Given the description of an element on the screen output the (x, y) to click on. 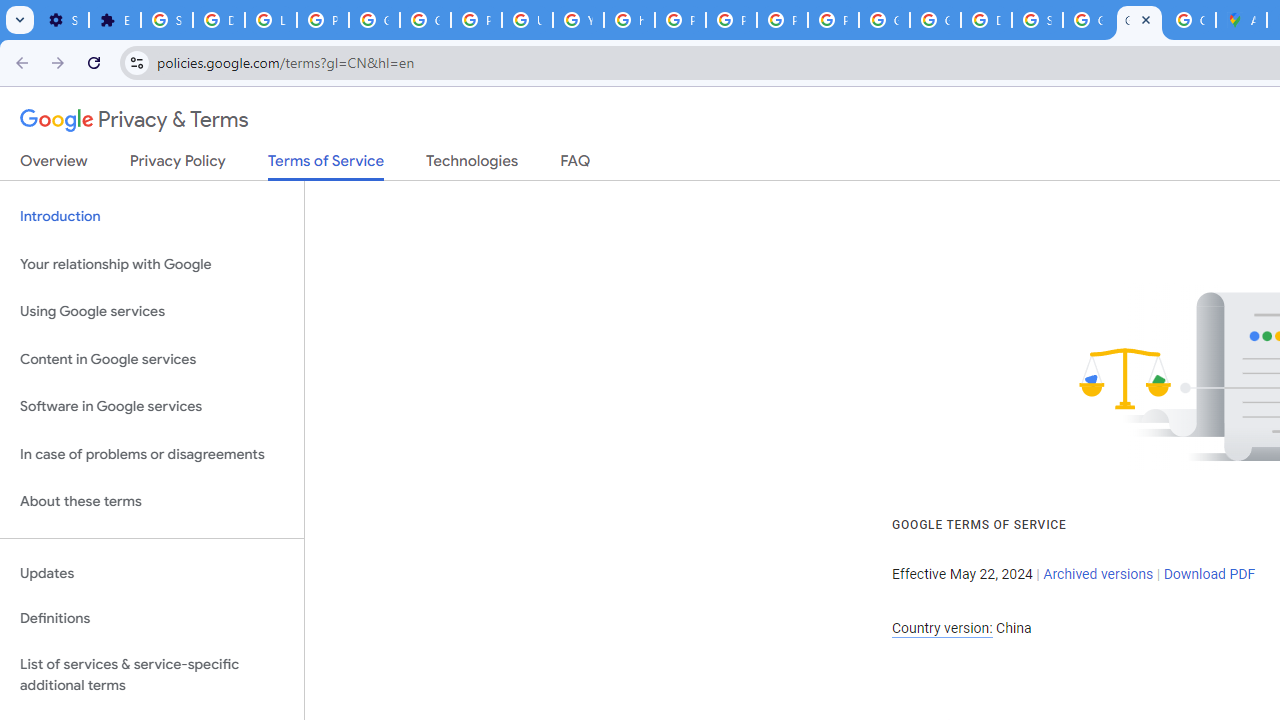
Your relationship with Google (152, 263)
